Given the description of an element on the screen output the (x, y) to click on. 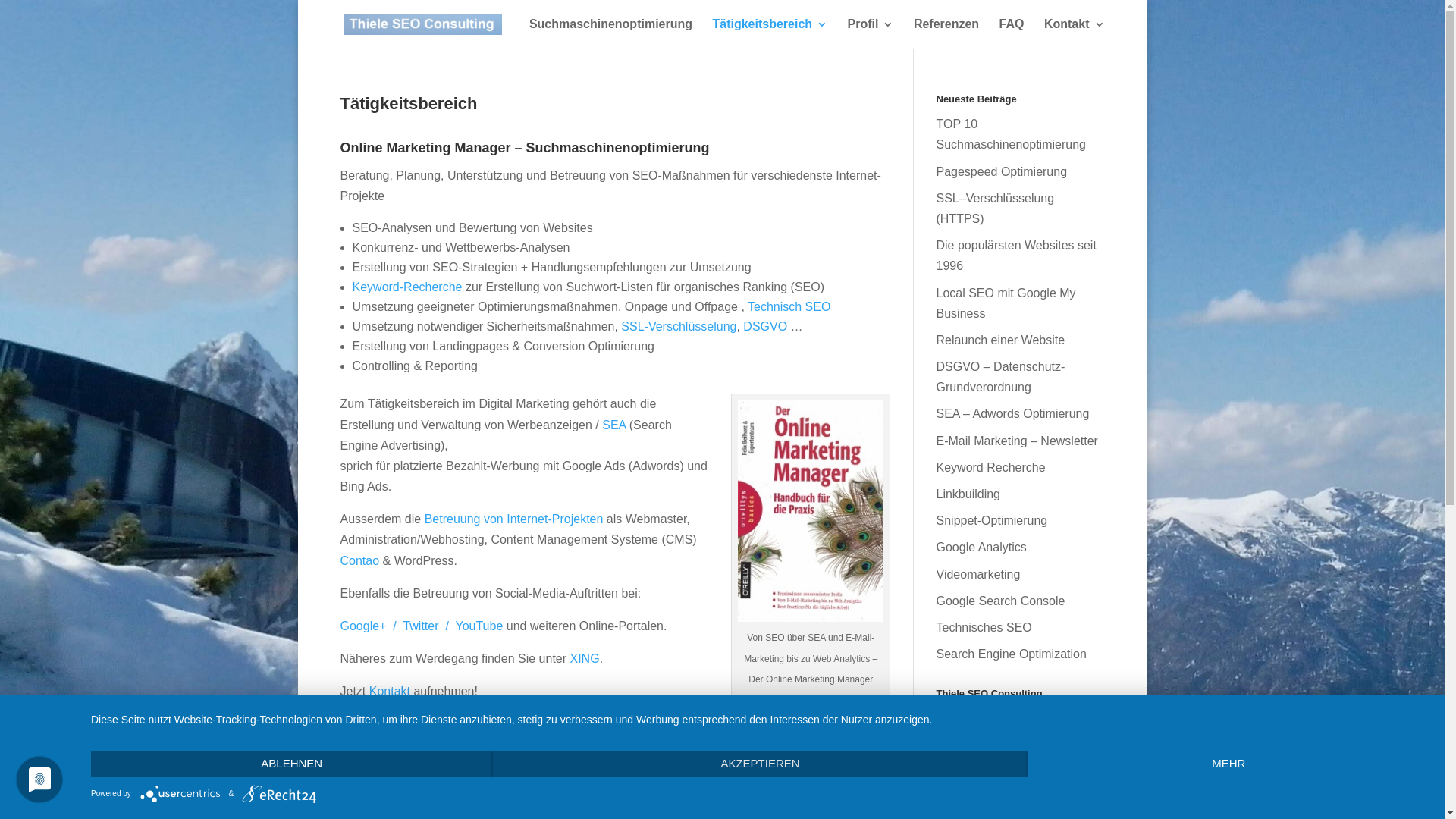
Betreuung von Internet-Projekten Element type: text (513, 518)
Contao Element type: text (359, 560)
Referenzen Element type: text (946, 33)
Google+  /   Element type: text (370, 625)
Technisch SEO Element type: text (788, 306)
ABLEHNEN Element type: text (291, 763)
Keyword Recherche Element type: text (989, 467)
Videomarketing Element type: text (977, 573)
Kontakt Element type: text (1074, 33)
Snippet-Optimierung Element type: text (991, 520)
DSGVO Element type: text (765, 326)
Profil Element type: text (870, 33)
Pagespeed Optimierung Element type: text (1000, 171)
Technisches SEO Element type: text (983, 627)
Relaunch einer Website Element type: text (999, 339)
Twitter  /   Element type: text (428, 625)
TOP 10 Suchmaschinenoptimierung Element type: text (1010, 133)
XING Element type: text (584, 658)
Google Search Console Element type: text (999, 600)
SEA Element type: text (613, 424)
AKZEPTIEREN Element type: text (760, 763)
Local SEO mit Google My Business Element type: text (1005, 303)
Suchmaschinenoptimierung Element type: text (610, 33)
YouTube Element type: text (478, 625)
MEHR Element type: text (1229, 763)
Linkbuilding Element type: text (967, 493)
Search Engine Optimization Element type: text (1010, 653)
Kontakt Element type: text (389, 690)
Google Analytics Element type: text (980, 546)
FAQ Element type: text (1011, 33)
Keyword-Recherche Element type: text (406, 286)
